Given the description of an element on the screen output the (x, y) to click on. 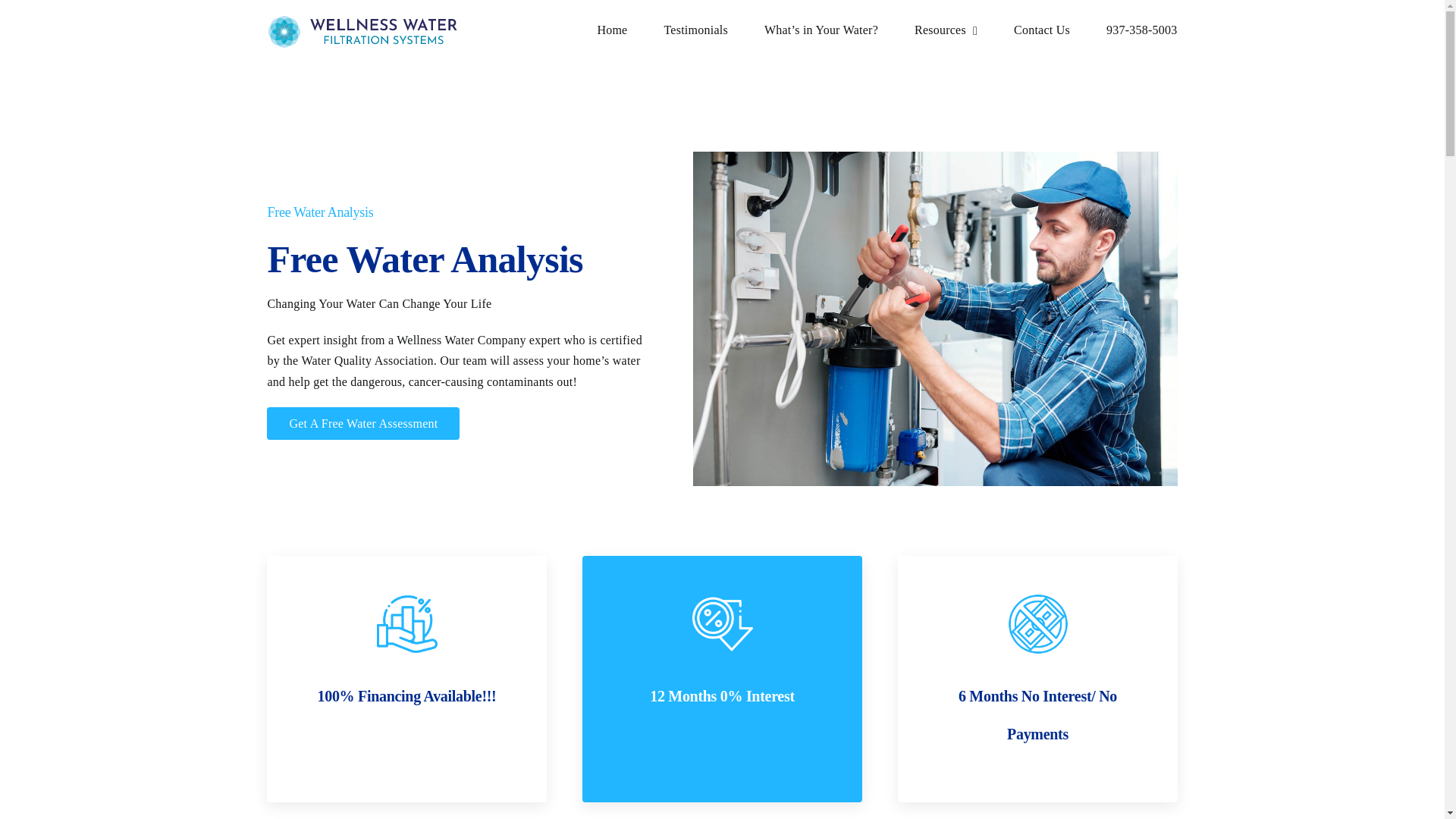
Resources (945, 30)
Get A Free Water Assessment (363, 423)
Testimonials (694, 30)
Contact Us (1041, 30)
937-358-5003 (1141, 30)
